Given the description of an element on the screen output the (x, y) to click on. 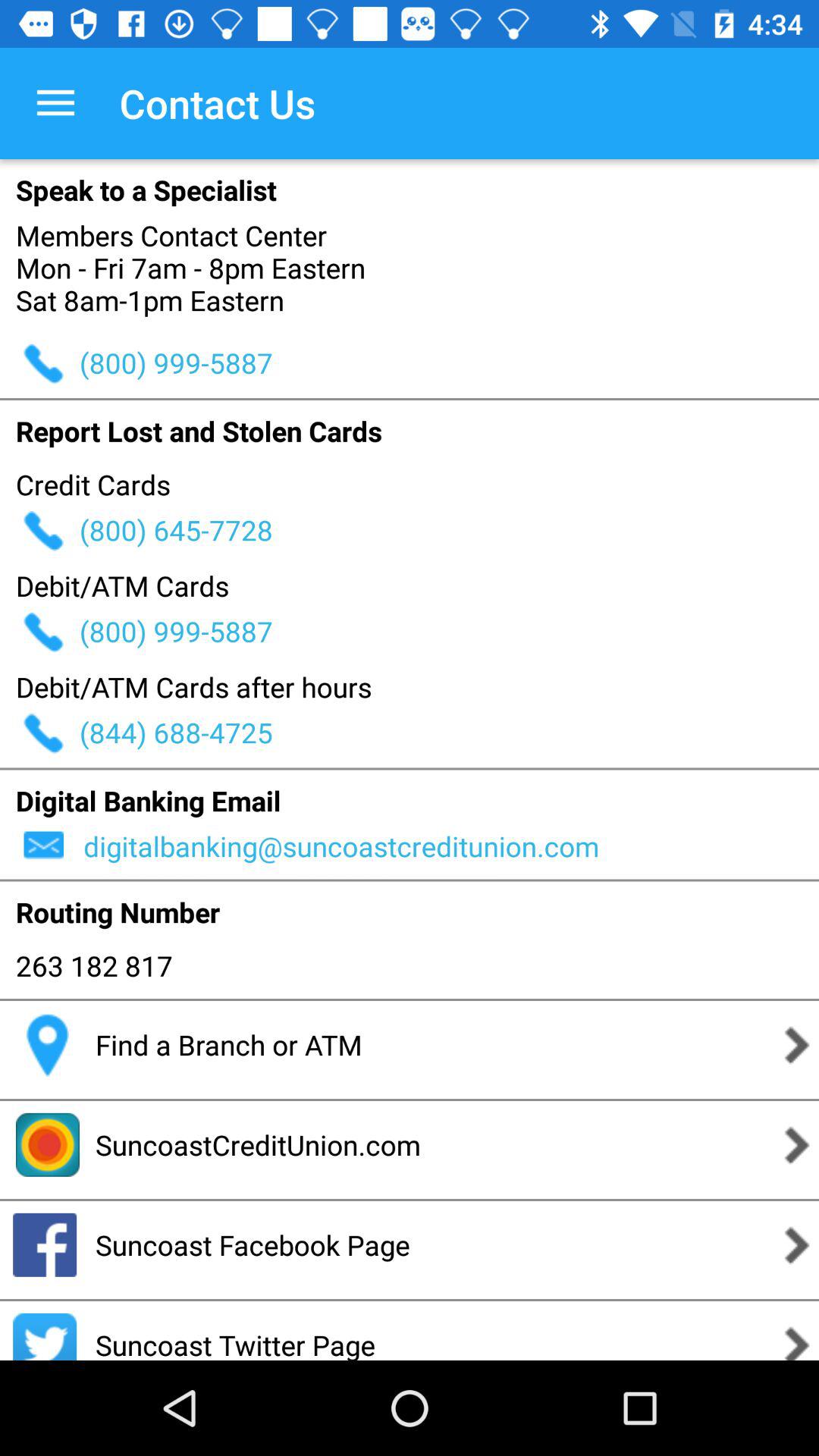
launch the item above debit/atm cards (449, 529)
